Given the description of an element on the screen output the (x, y) to click on. 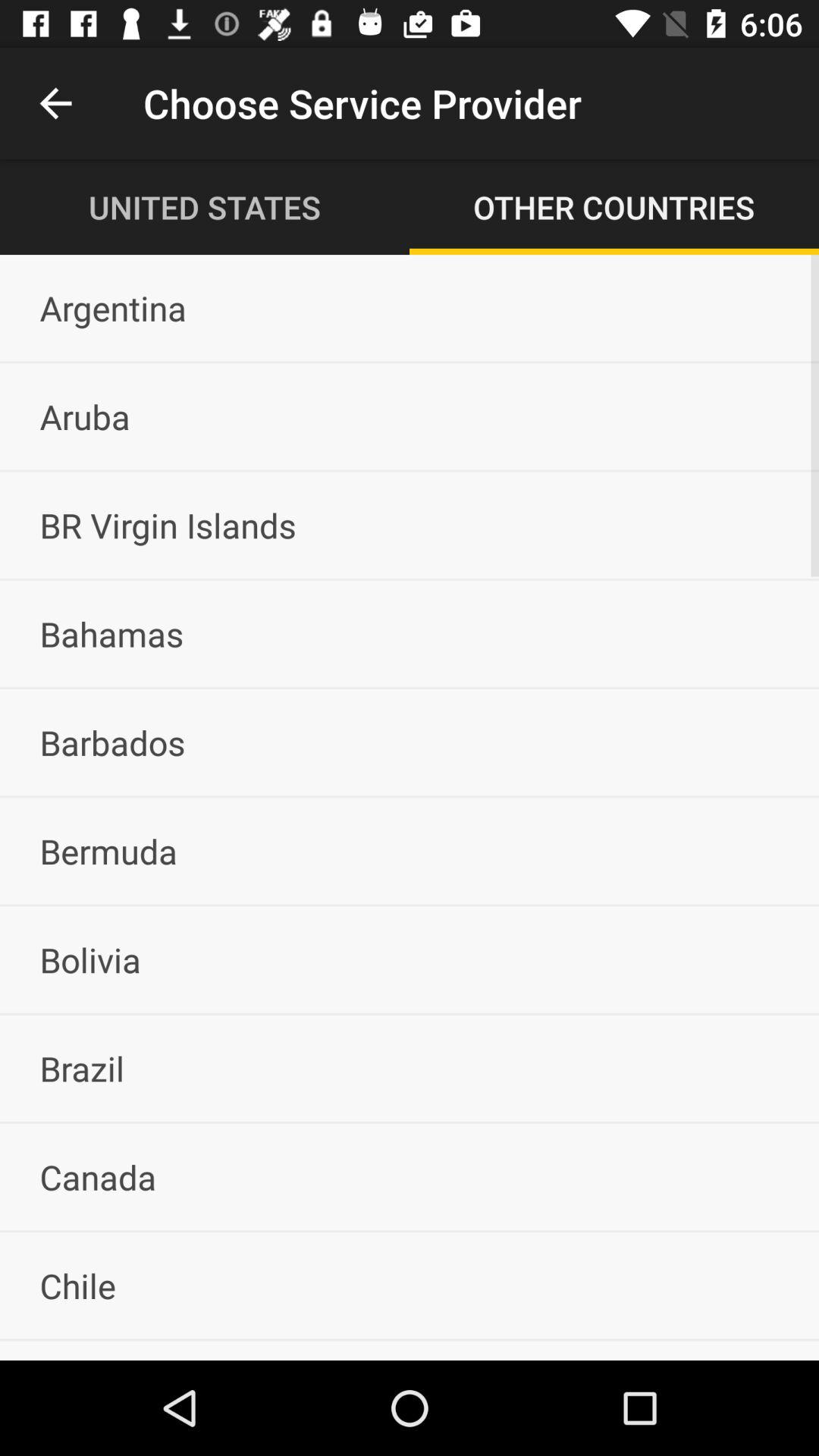
flip until the brazil (409, 1068)
